Given the description of an element on the screen output the (x, y) to click on. 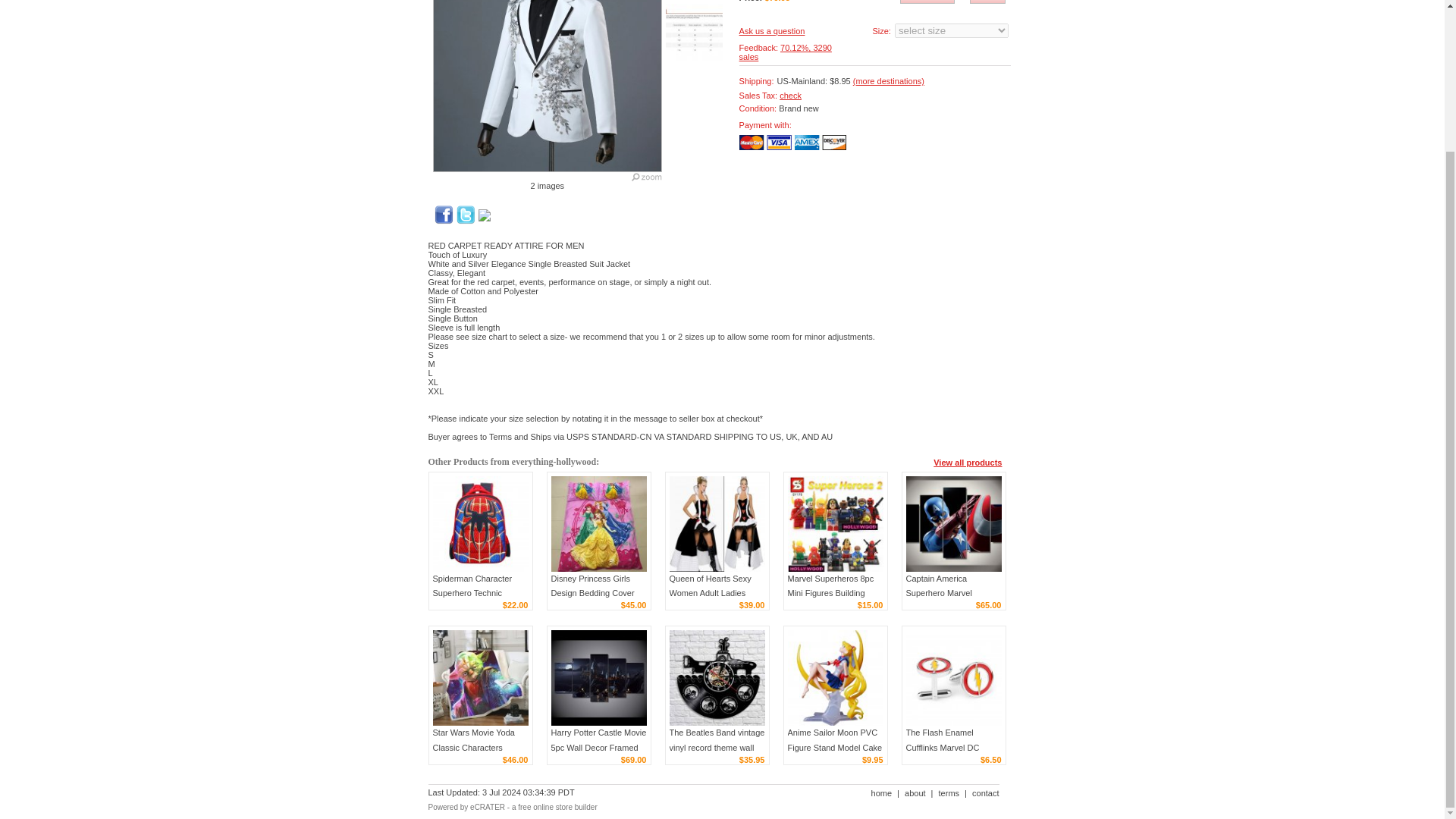
Ask us a question (772, 31)
Anime Sailor Moon PVC Figure Stand Model  Cake Topper (834, 677)
Anime Sailor Moon PVC Figure Stand Model  Cake Topper (834, 746)
View all products (967, 461)
